Given the description of an element on the screen output the (x, y) to click on. 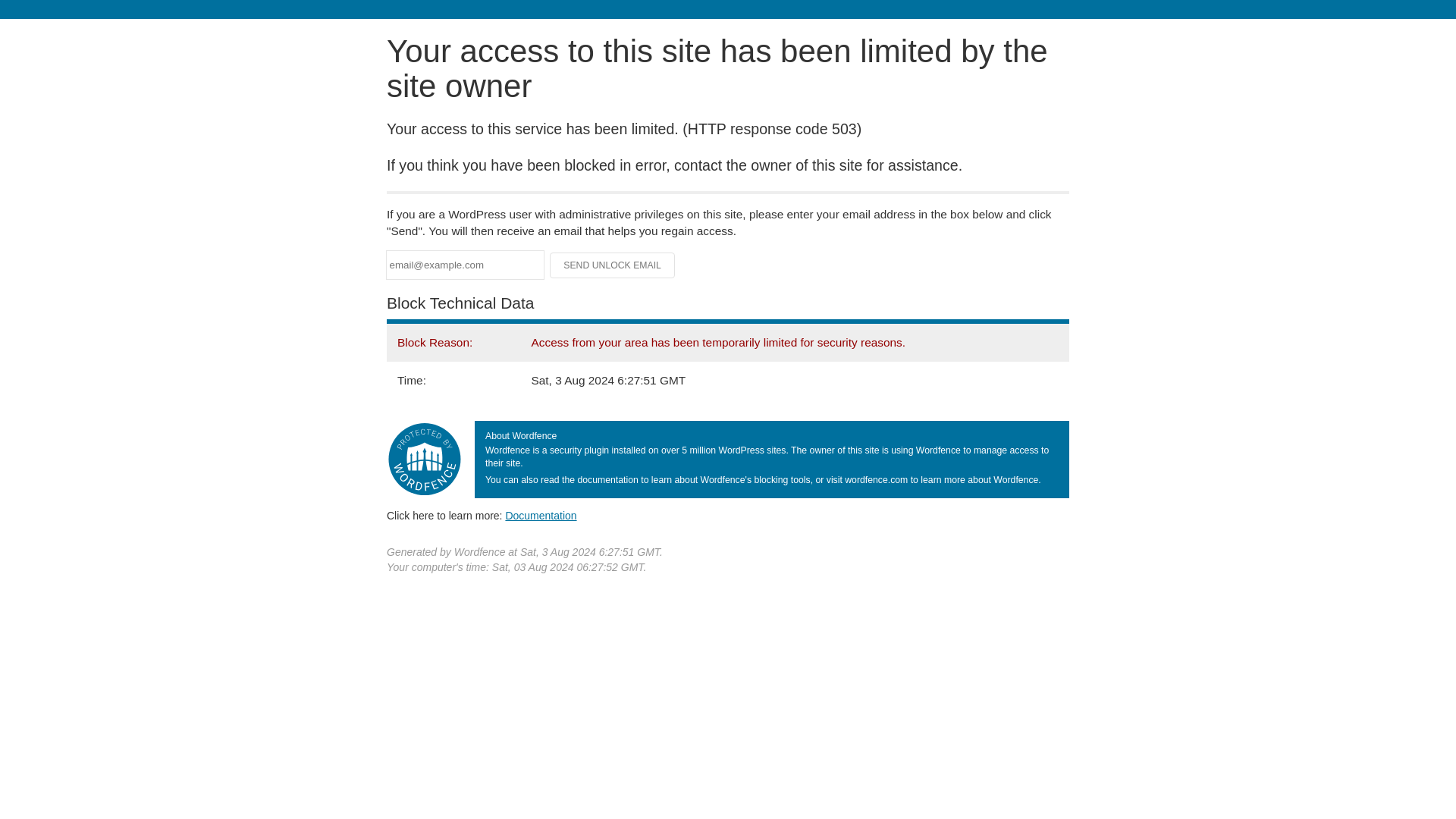
Send Unlock Email (612, 265)
Documentation (540, 515)
Send Unlock Email (612, 265)
